Given the description of an element on the screen output the (x, y) to click on. 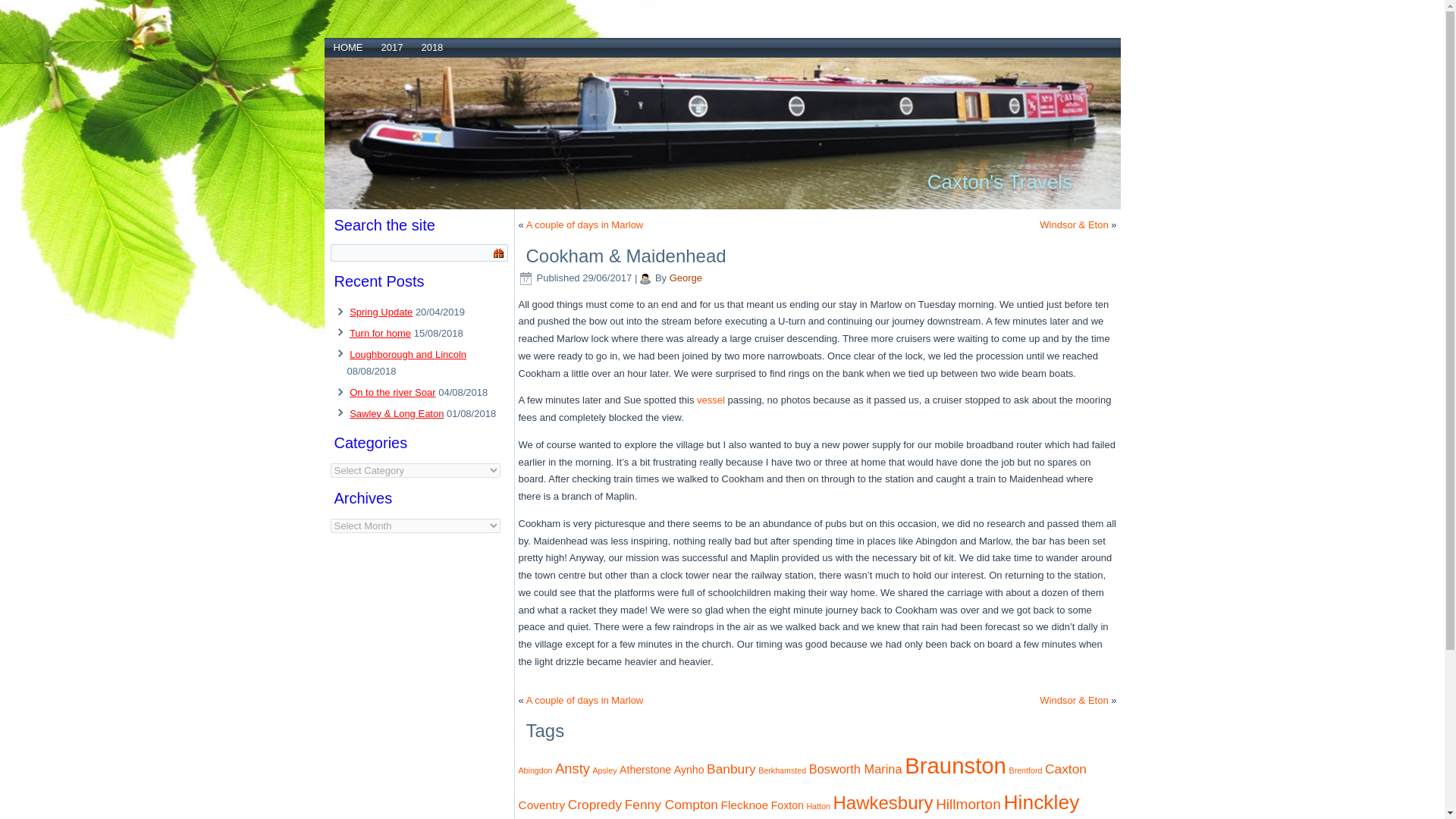
A couple of days in Marlow (584, 699)
Aynho (689, 769)
10:10 pm (606, 277)
Brentford (1025, 769)
Abingdon (535, 769)
Atherstone (645, 769)
2018 (431, 47)
A couple of days in Marlow (584, 699)
Bosworth Marina (855, 768)
Hatton (817, 805)
2018 (431, 47)
Loughborough and Lincoln (407, 354)
View all posts by George (685, 277)
George (685, 277)
Foxton (787, 805)
